Given the description of an element on the screen output the (x, y) to click on. 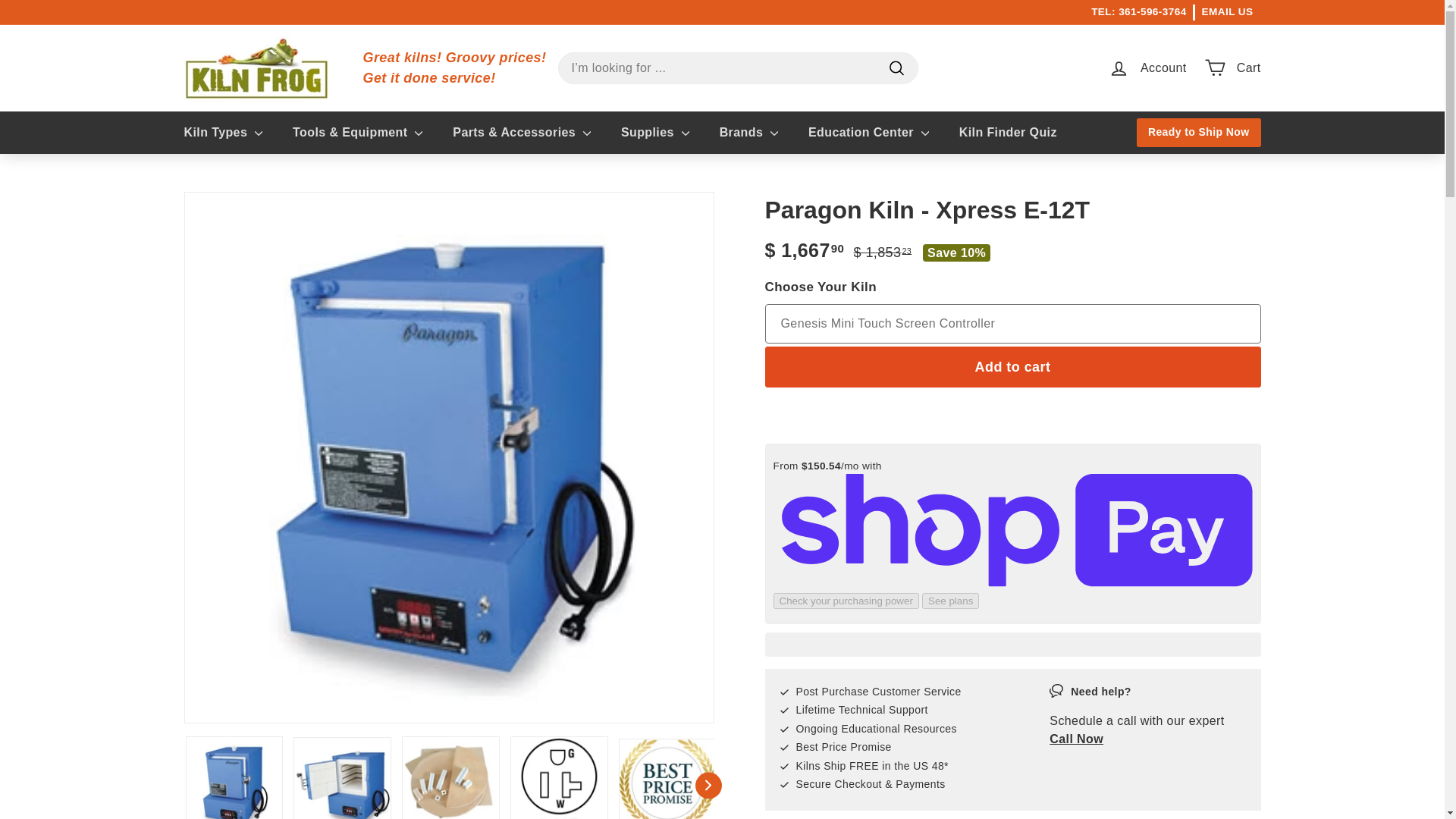
Account (1147, 67)
EMAIL US (1227, 11)
TEL: 361-596-3764 (1138, 11)
Cart (454, 67)
